Given the description of an element on the screen output the (x, y) to click on. 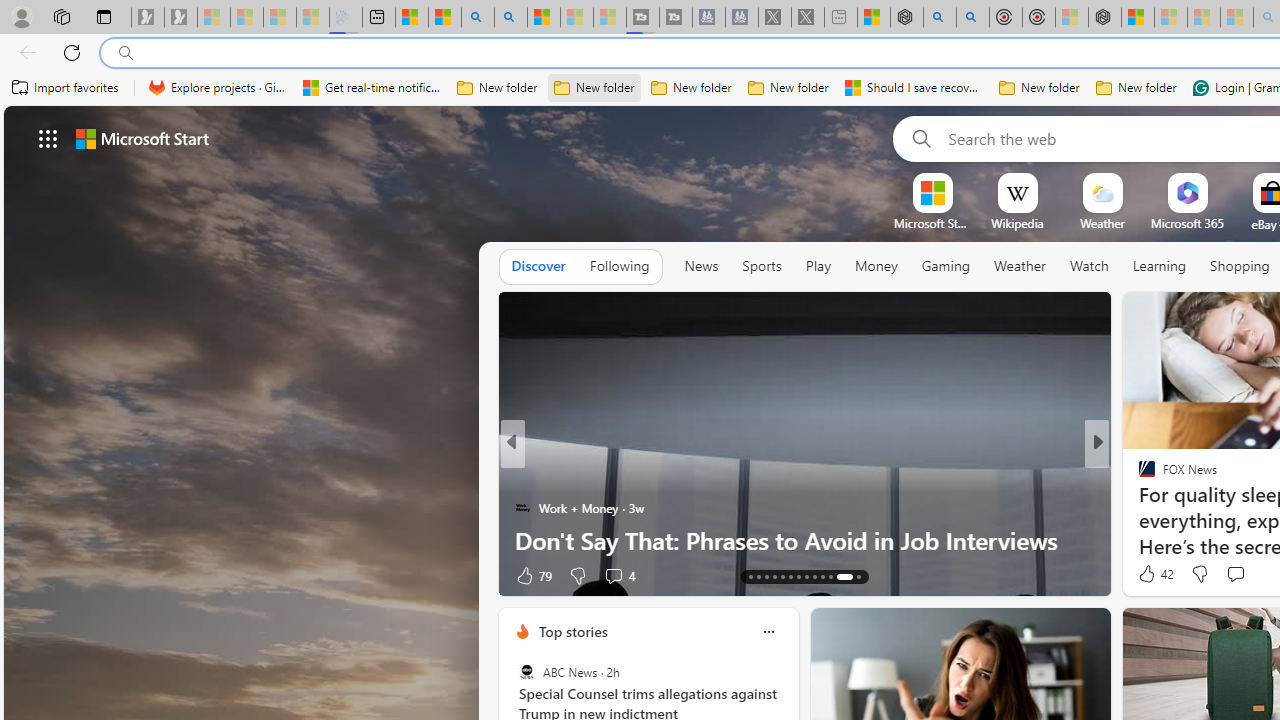
AutomationID: tab-25 (857, 576)
AutomationID: tab-23 (829, 576)
Nordace - Nordace Siena Is Not An Ordinary Backpack (1105, 17)
poe - Search (940, 17)
